Given the description of an element on the screen output the (x, y) to click on. 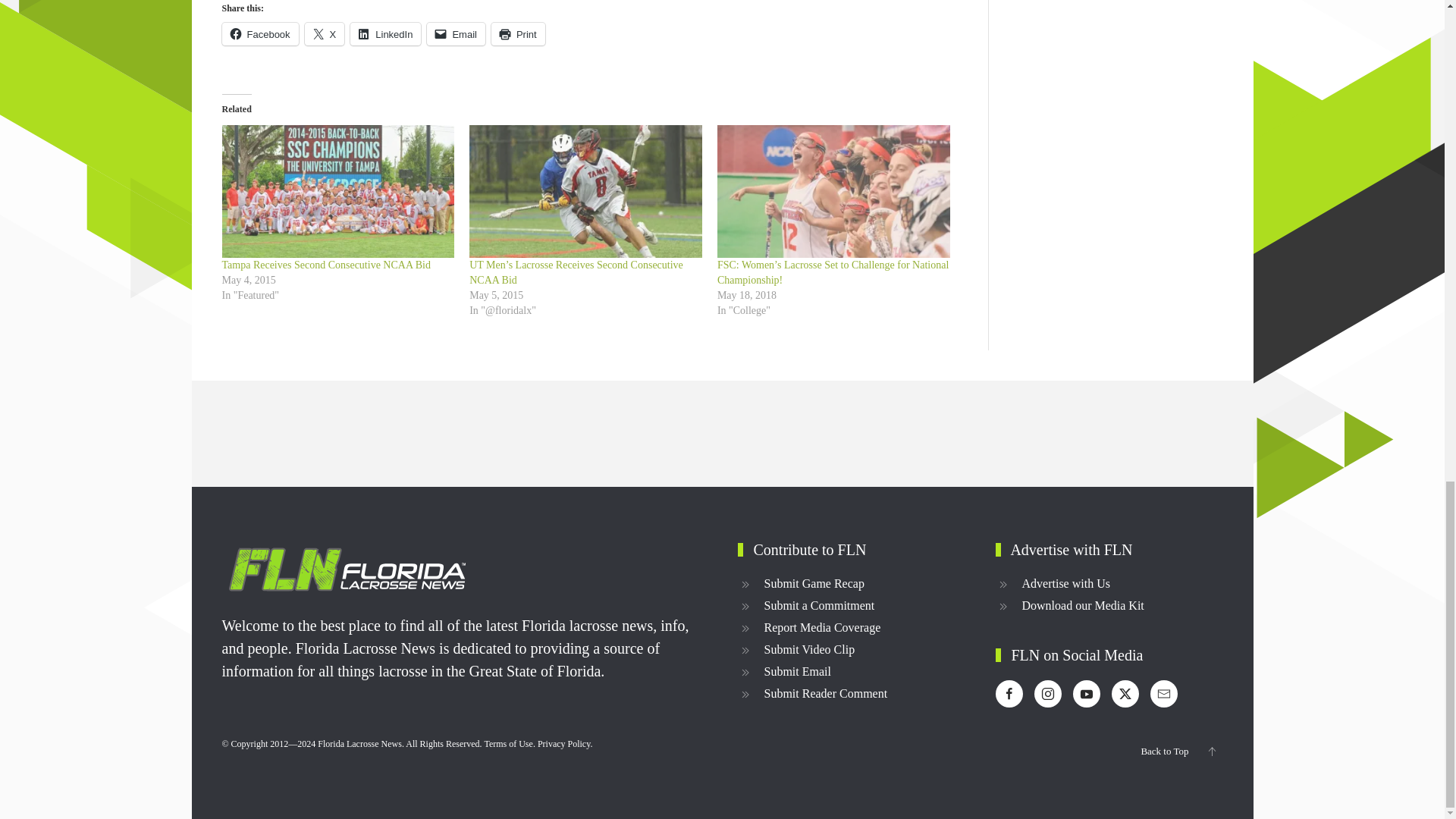
Click to share on X (324, 33)
Click to print (518, 33)
Tampa Receives Second Consecutive NCAA Bid (337, 191)
Click to email a link to a friend (455, 33)
Click to share on LinkedIn (385, 33)
Click to share on Facebook (259, 33)
Advertisement (1120, 44)
Tampa Receives Second Consecutive NCAA Bid (325, 265)
